Given the description of an element on the screen output the (x, y) to click on. 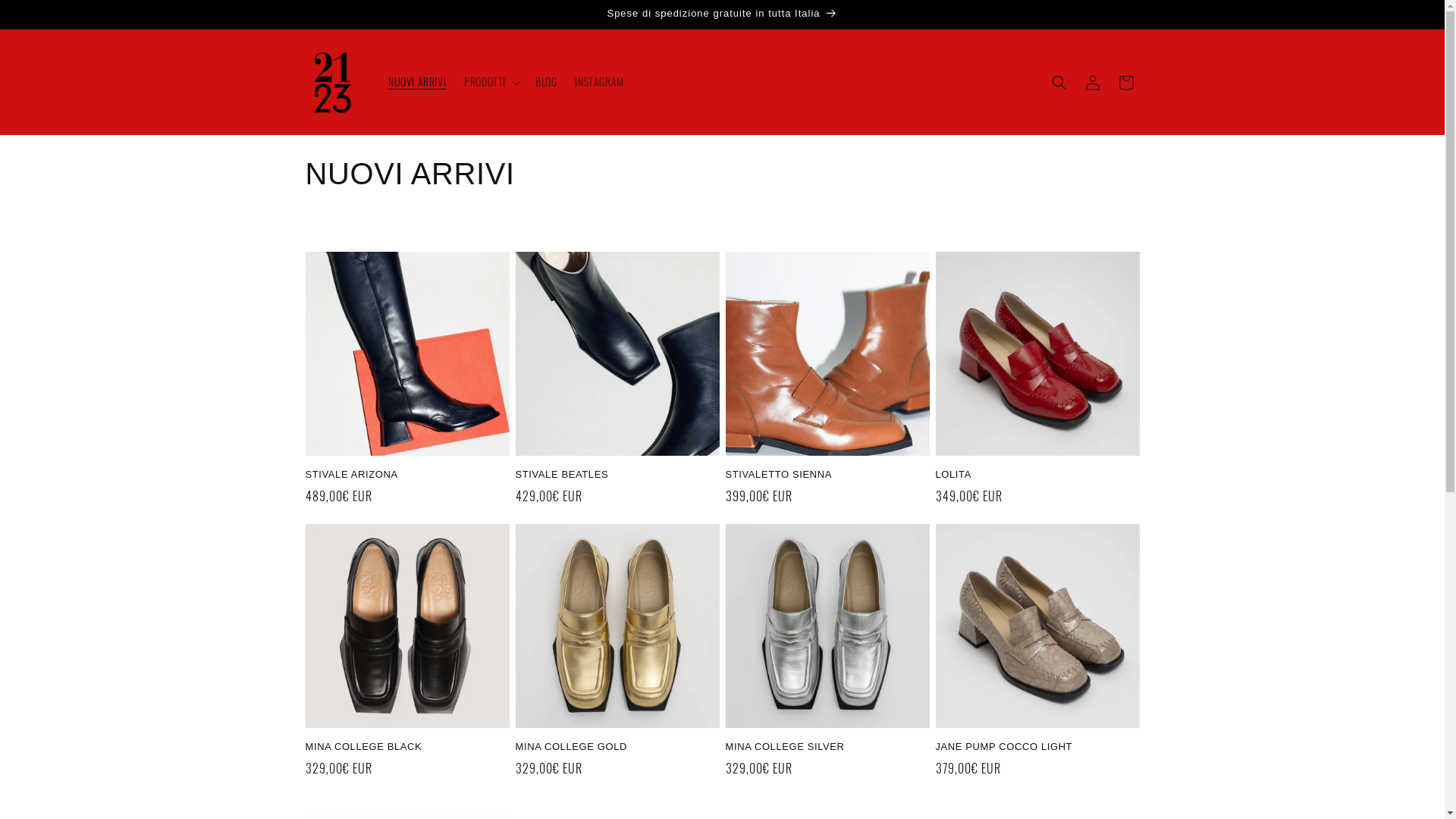
JANE PUMP COCCO LIGHT Element type: text (1037, 746)
MINA COLLEGE BLACK Element type: text (406, 746)
LOLITA Element type: text (1037, 474)
NUOVI ARRIVI Element type: text (417, 81)
Spese di spedizione gratuite in tutta Italia Element type: text (721, 14)
STIVALE ARIZONA Element type: text (406, 474)
STIVALE BEATLES Element type: text (617, 474)
MINA COLLEGE SILVER Element type: text (826, 746)
MINA COLLEGE GOLD Element type: text (617, 746)
Carrello Element type: text (1125, 81)
STIVALETTO SIENNA Element type: text (826, 474)
Accedi Element type: text (1091, 81)
INSTAGRAM Element type: text (598, 81)
BLOG Element type: text (545, 81)
